Given the description of an element on the screen output the (x, y) to click on. 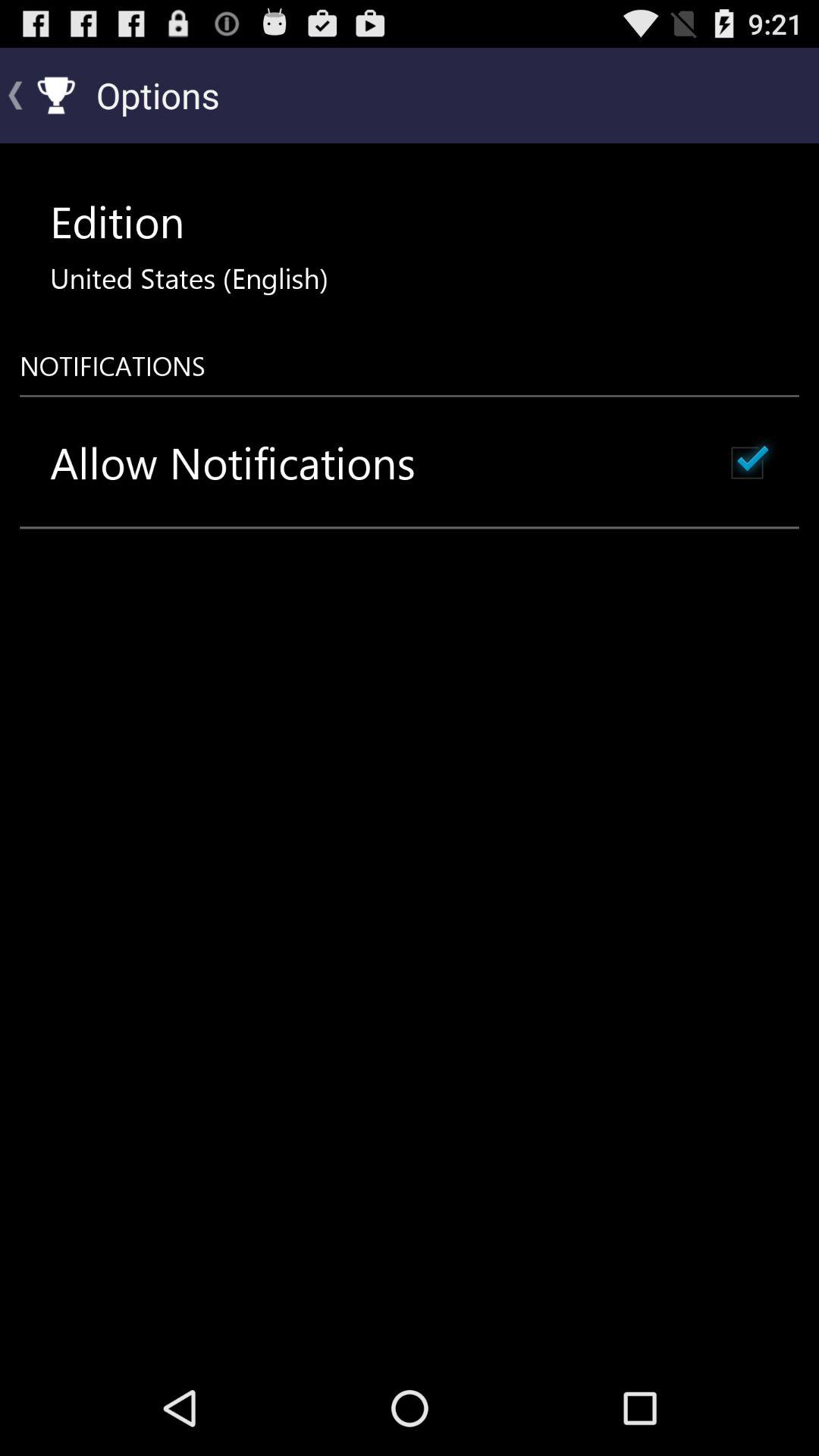
press the allow notifications (232, 462)
